Given the description of an element on the screen output the (x, y) to click on. 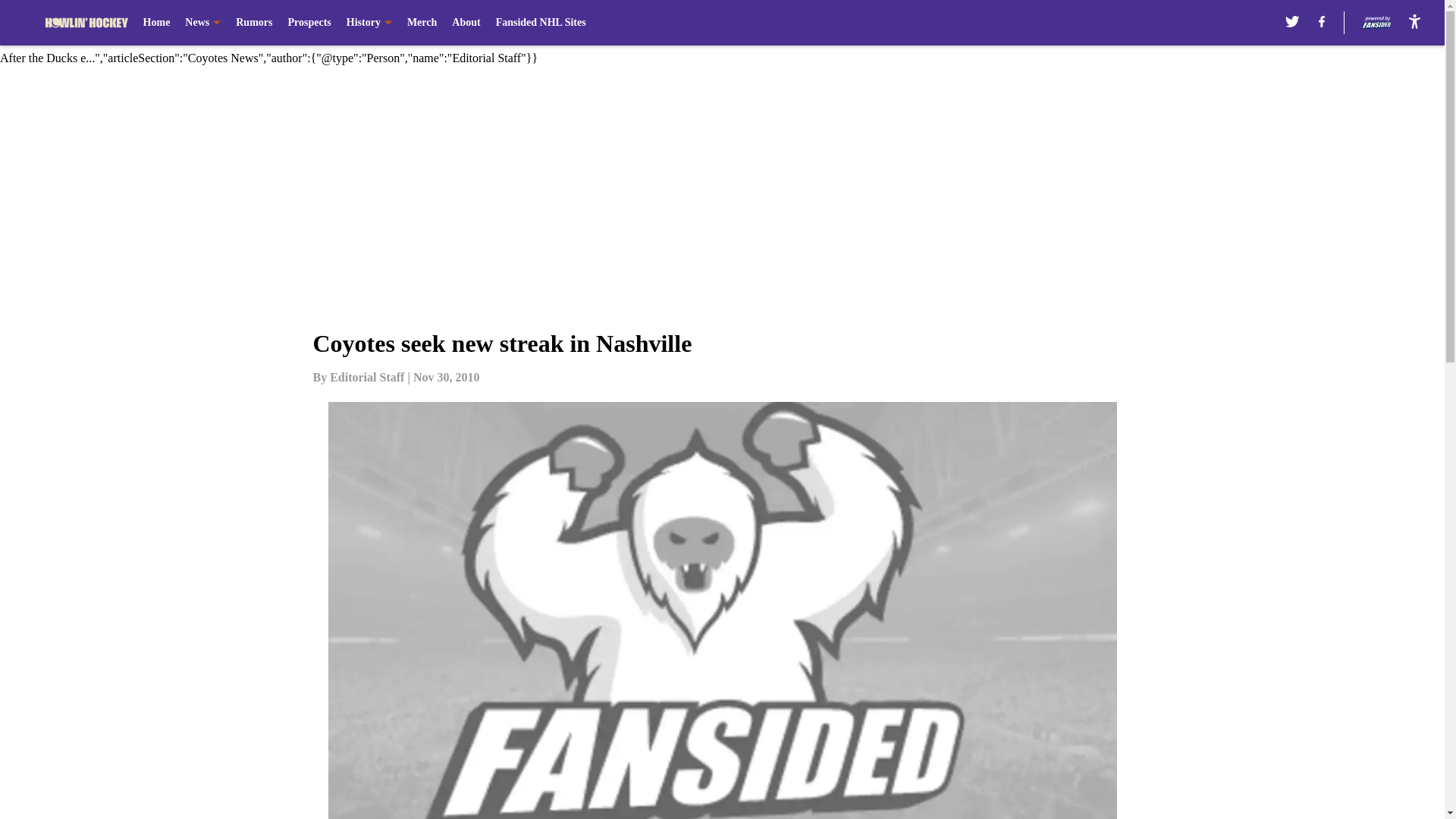
Prospects (308, 22)
Fansided NHL Sites (541, 22)
Merch (421, 22)
About (465, 22)
Home (156, 22)
Rumors (253, 22)
